Given the description of an element on the screen output the (x, y) to click on. 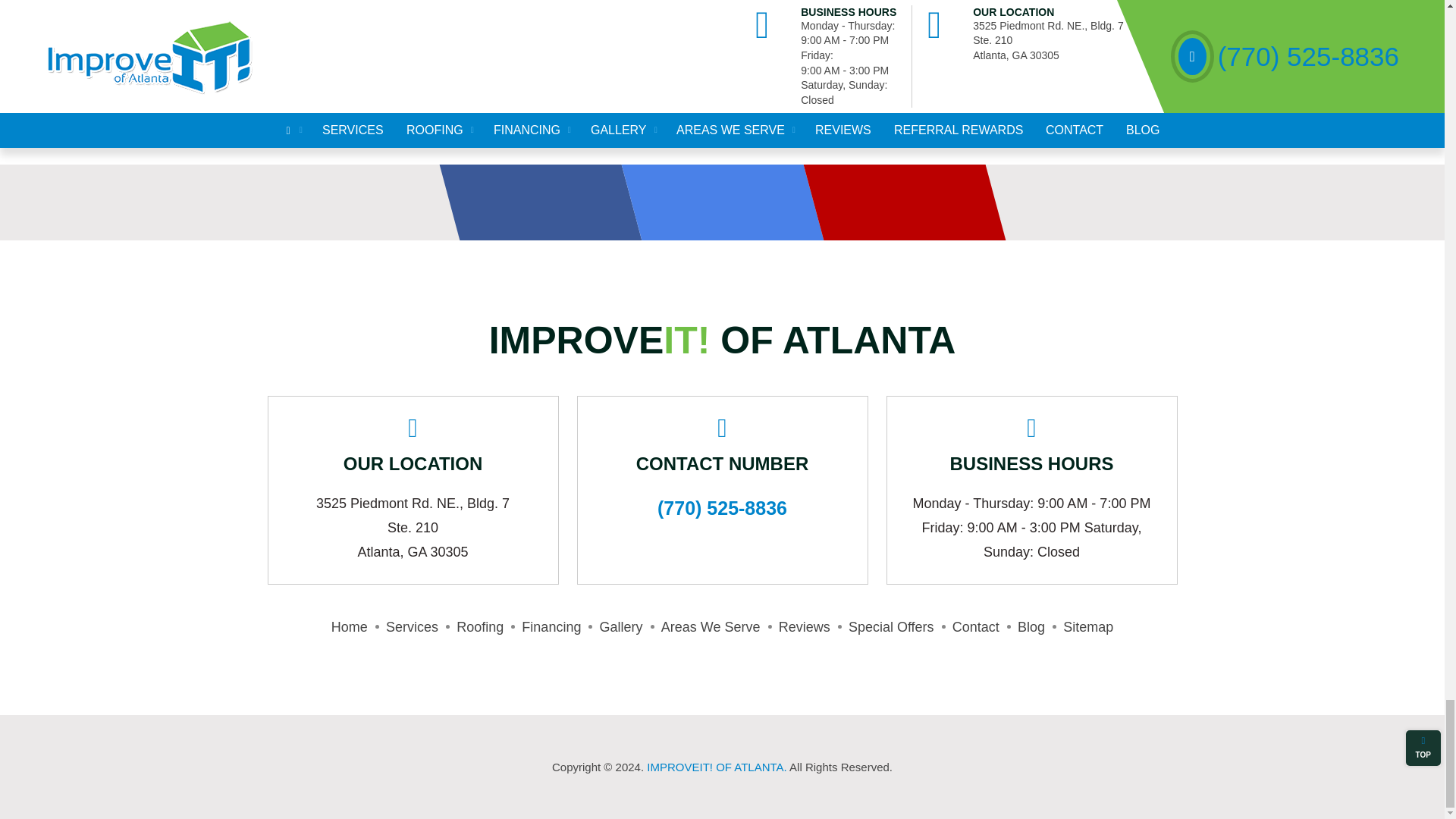
Visit Our Facebook Page (530, 202)
Visit Our YouTube Channel (894, 202)
Google My Business (712, 202)
